Given the description of an element on the screen output the (x, y) to click on. 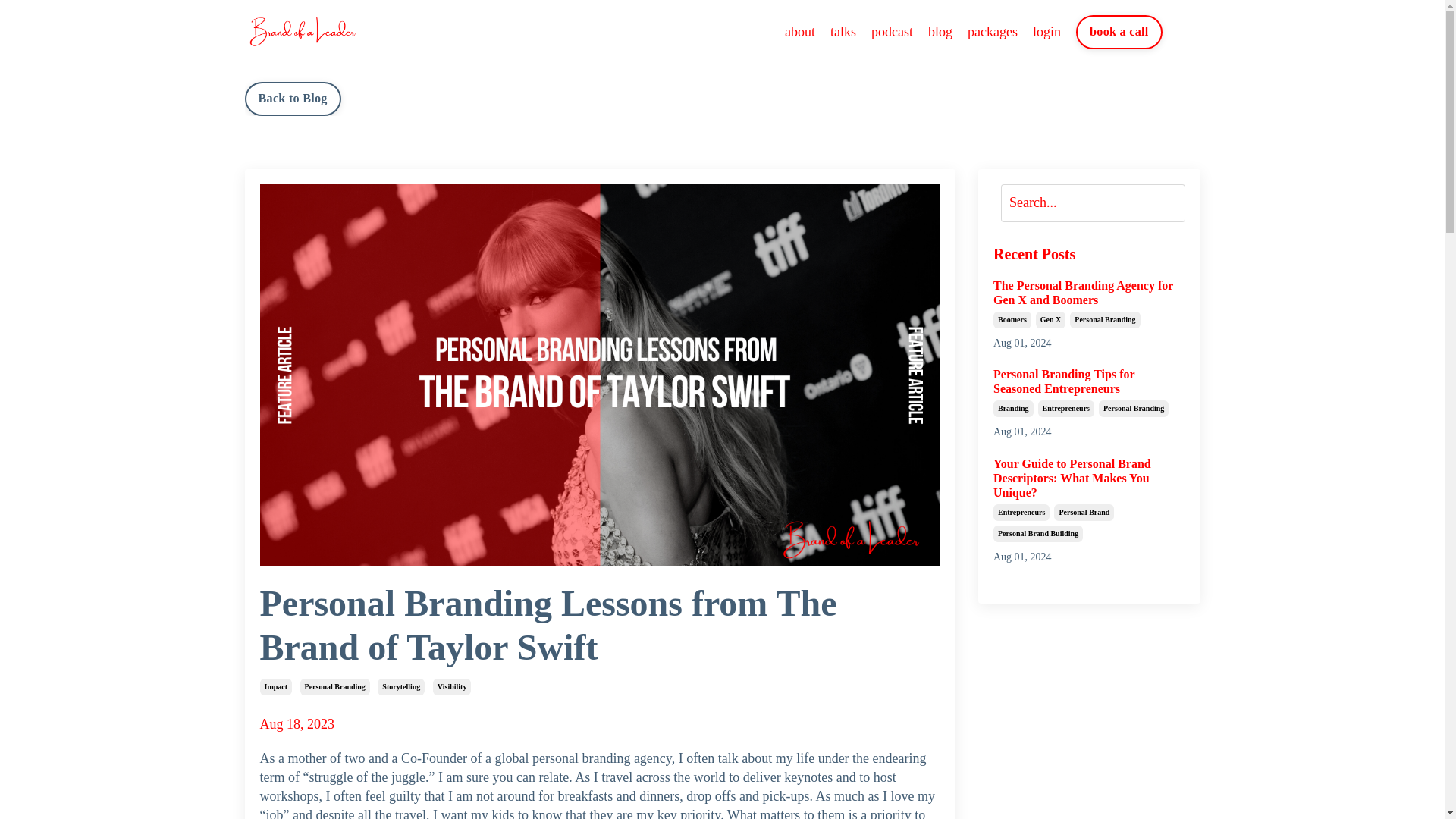
Impact (275, 686)
Branding (1012, 408)
Entrepreneurs (1020, 512)
Entrepreneurs (1066, 408)
Gen X (1050, 320)
Personal Brand (1083, 512)
talks (842, 31)
Personal Branding Tips for Seasoned Entrepreneurs (1088, 380)
about (799, 31)
Personal Branding (334, 686)
